Given the description of an element on the screen output the (x, y) to click on. 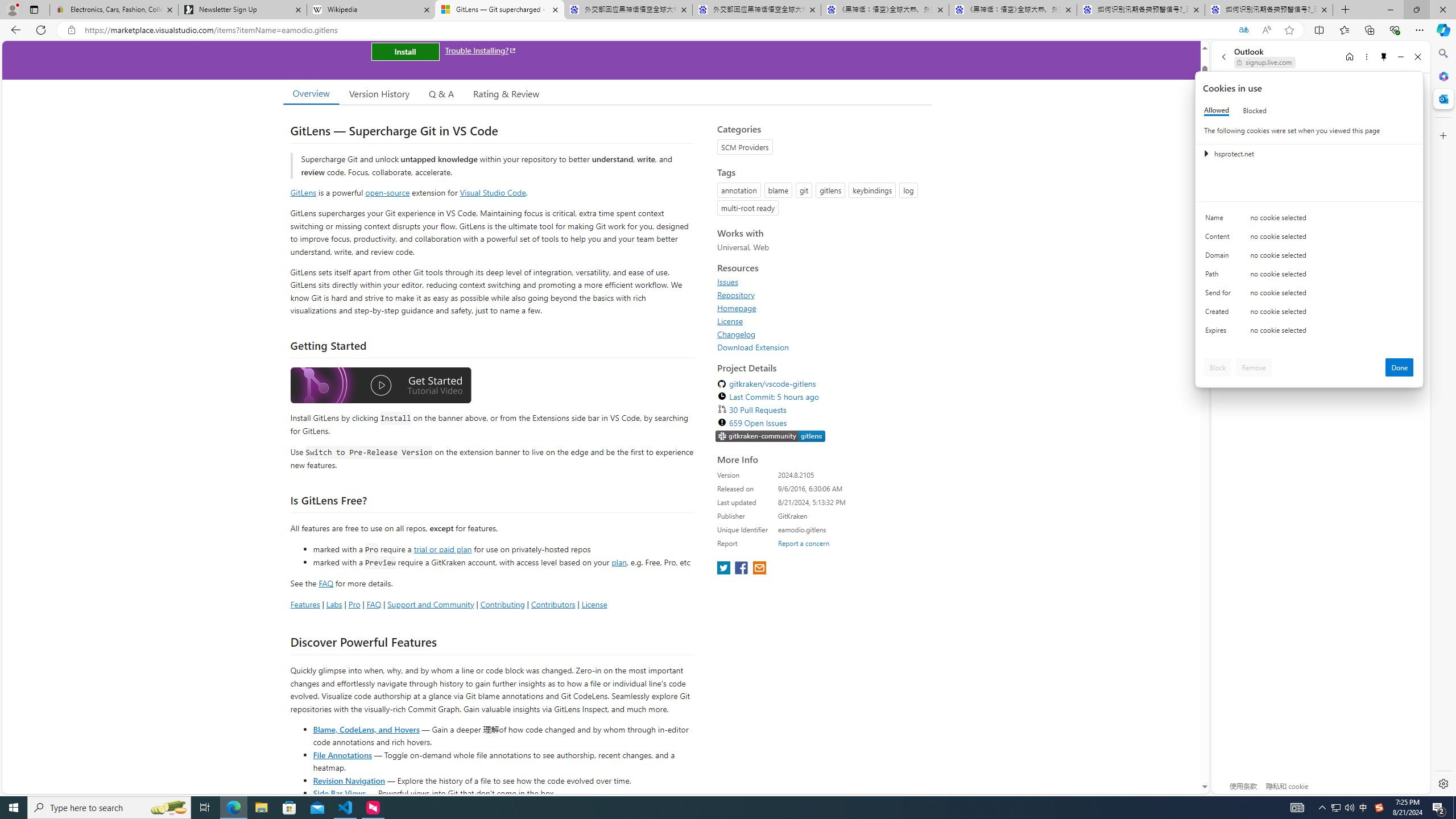
GitLens (303, 192)
Overview (310, 92)
share extension on twitter (724, 568)
Done (1399, 367)
share extension on facebook (742, 568)
Support and Community (430, 603)
Allowed (1216, 110)
